Given the description of an element on the screen output the (x, y) to click on. 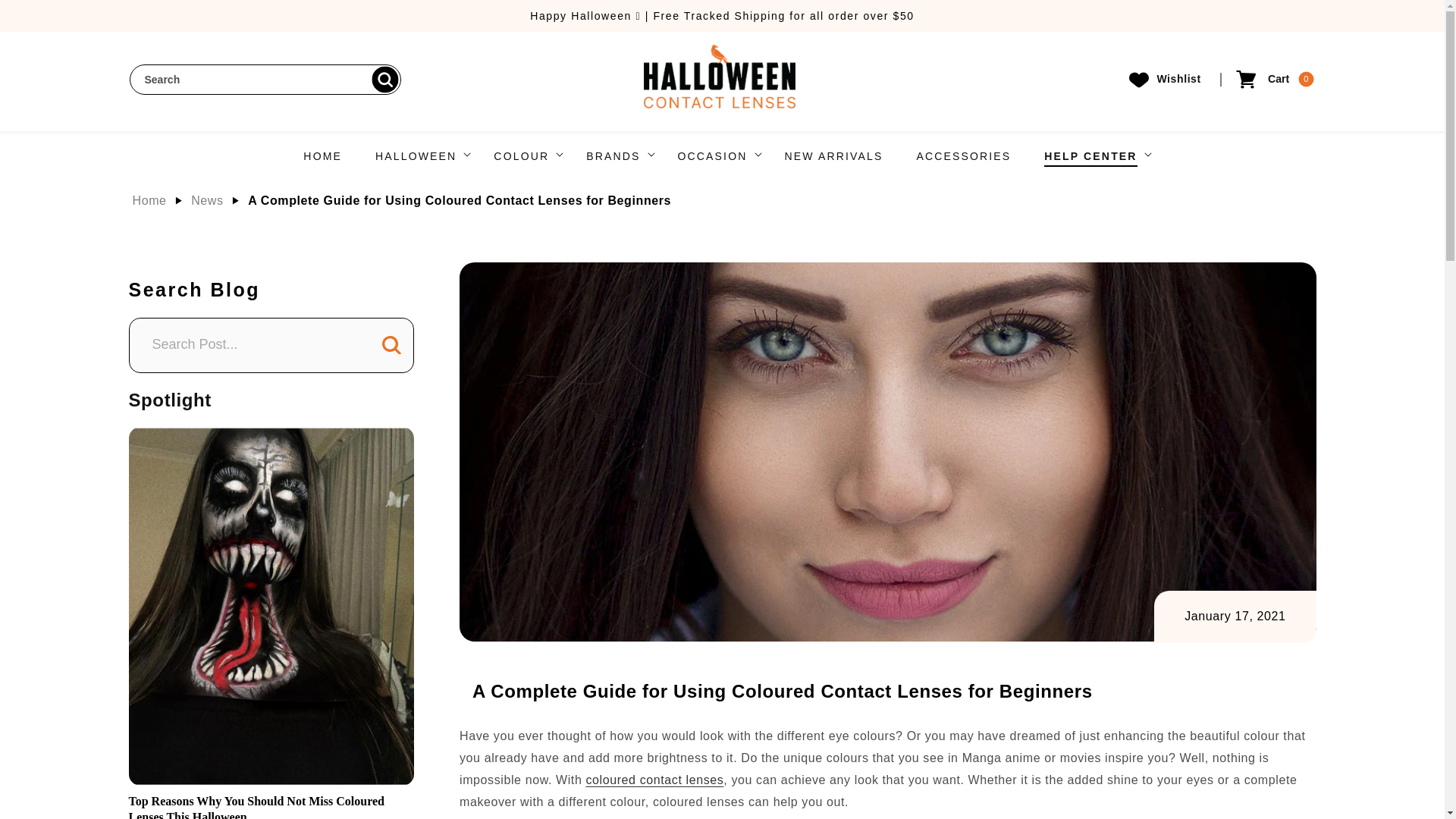
Wishlist (1164, 78)
